Given the description of an element on the screen output the (x, y) to click on. 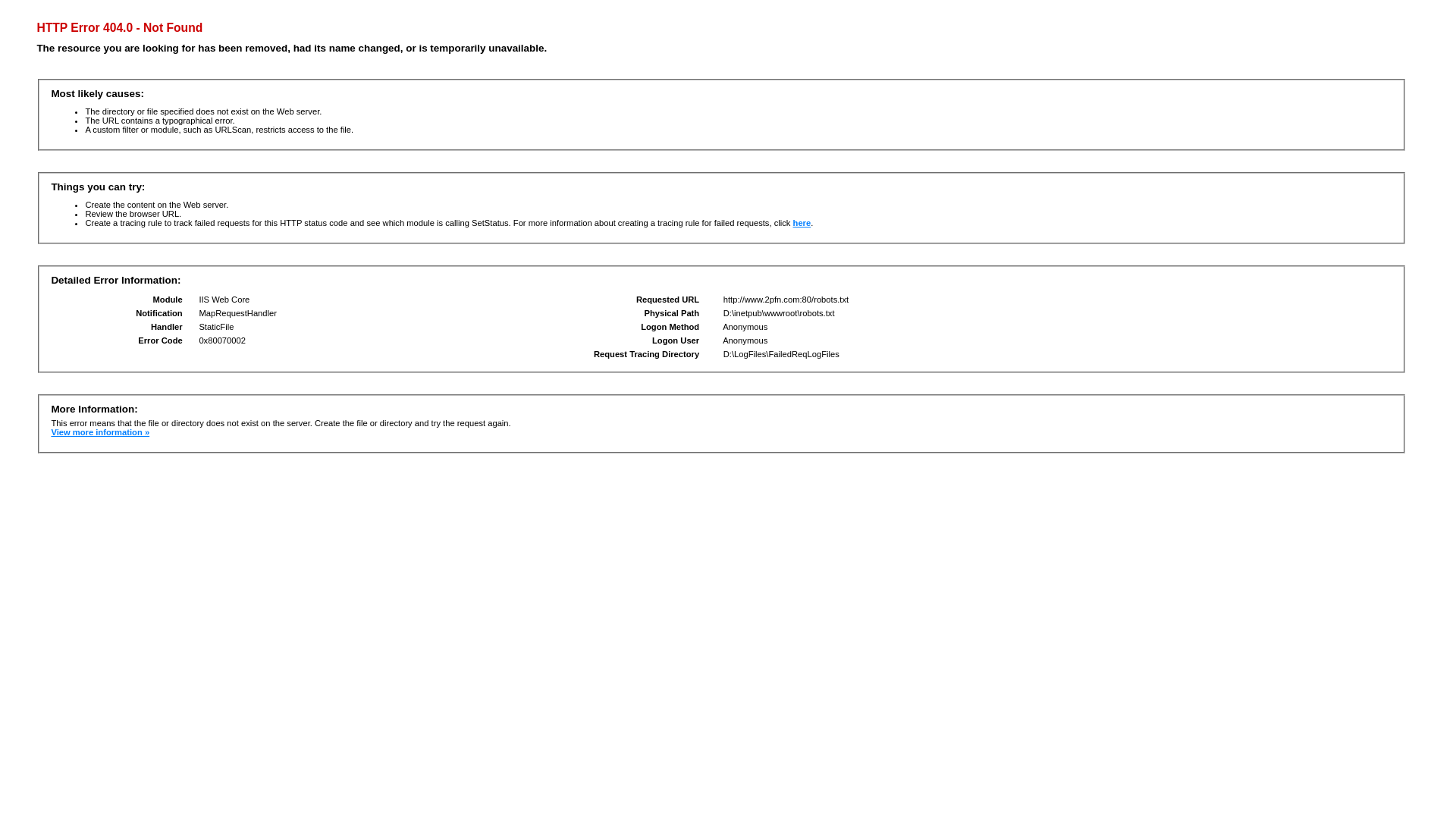
here Element type: text (802, 222)
